Given the description of an element on the screen output the (x, y) to click on. 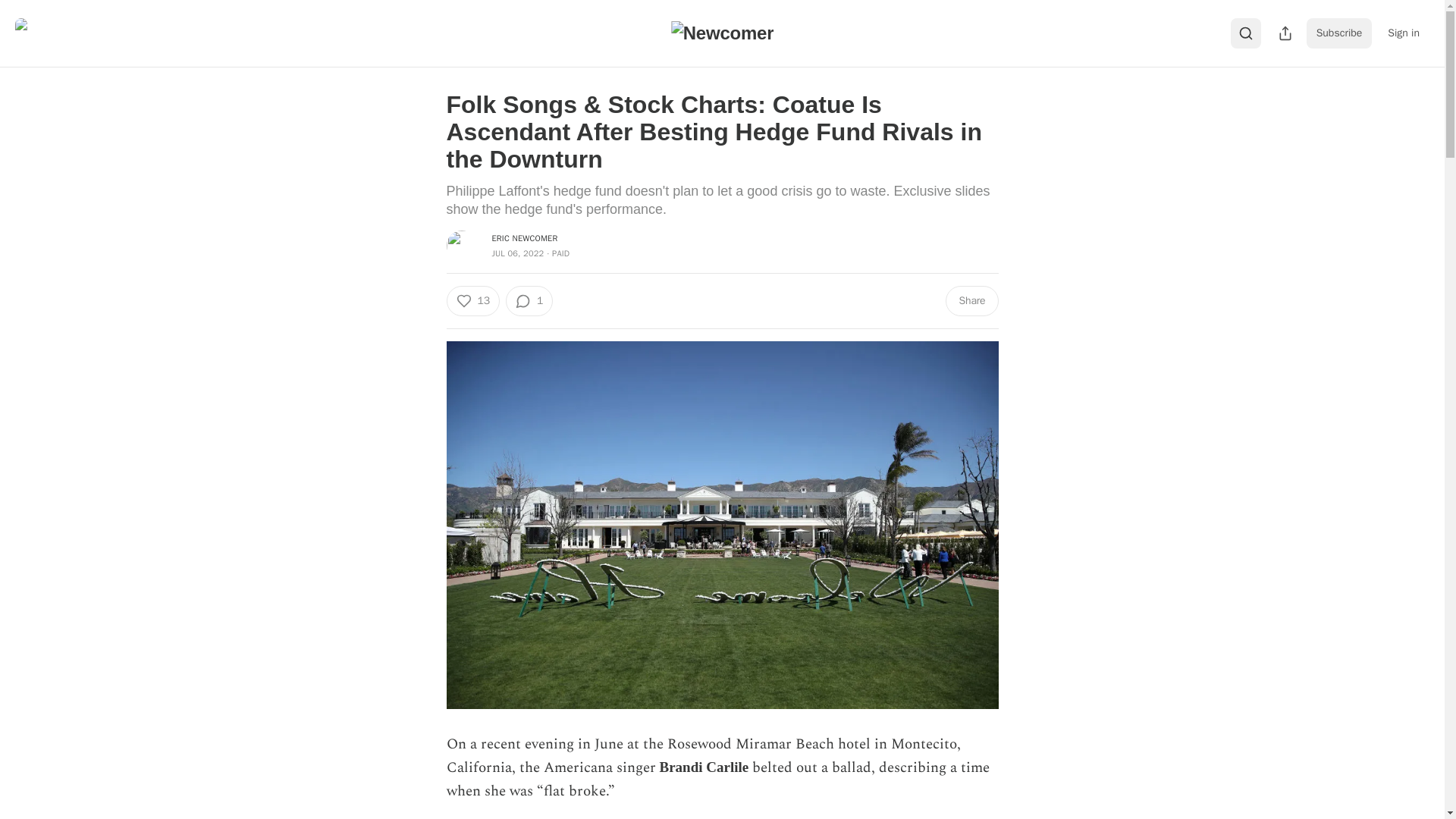
Share (970, 300)
ERIC NEWCOMER (524, 237)
Subscribe (1339, 33)
Sign in (1403, 33)
13 (472, 300)
1 (529, 300)
